Given the description of an element on the screen output the (x, y) to click on. 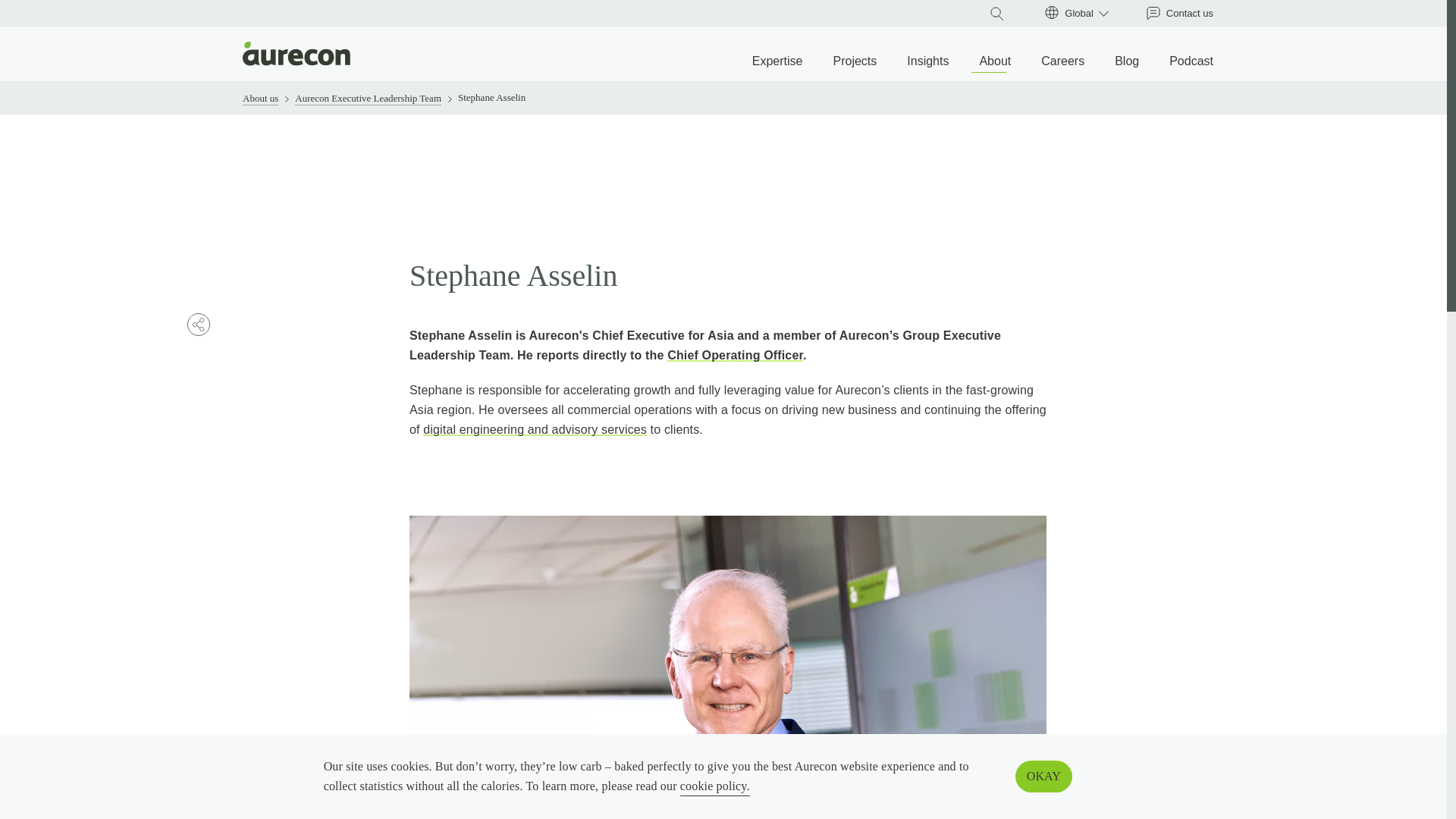
Expertise (777, 61)
Insights (928, 61)
Global (1079, 12)
Contact us (1179, 13)
cookie policy. (714, 786)
OKAY (1042, 776)
Projects (854, 61)
